Given the description of an element on the screen output the (x, y) to click on. 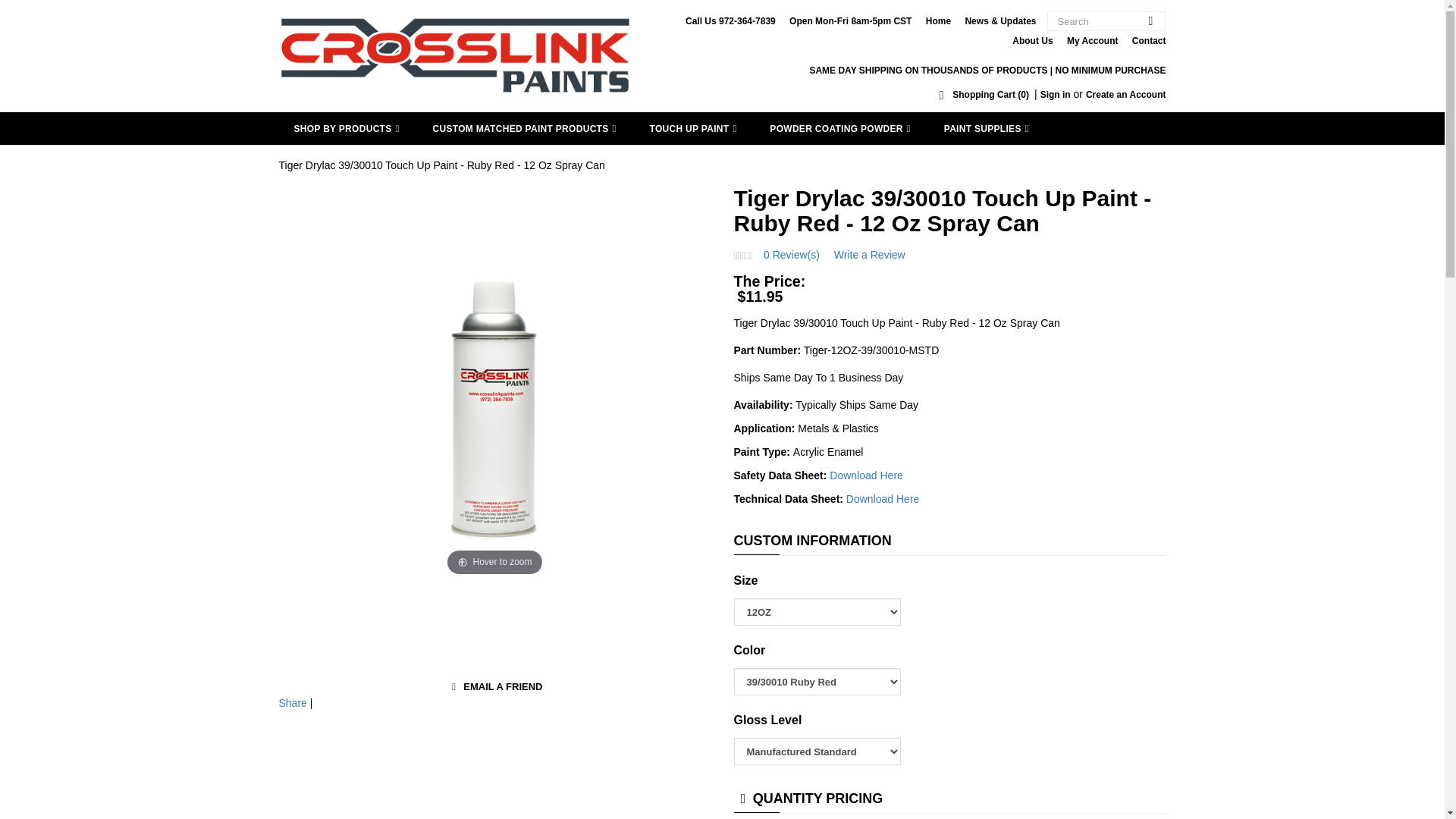
Create an Account (1126, 94)
My Account (1092, 40)
About Us (1031, 40)
972-364-7839 (747, 20)
Contact (1149, 40)
SHOP BY PRODUCTS (346, 128)
Sign in (1055, 94)
Open Mon-Fri 8am-5pm CST (850, 20)
CUSTOM MATCHED PAINT PRODUCTS (524, 128)
Home (938, 20)
TOUCH UP PAINT (692, 128)
